Given the description of an element on the screen output the (x, y) to click on. 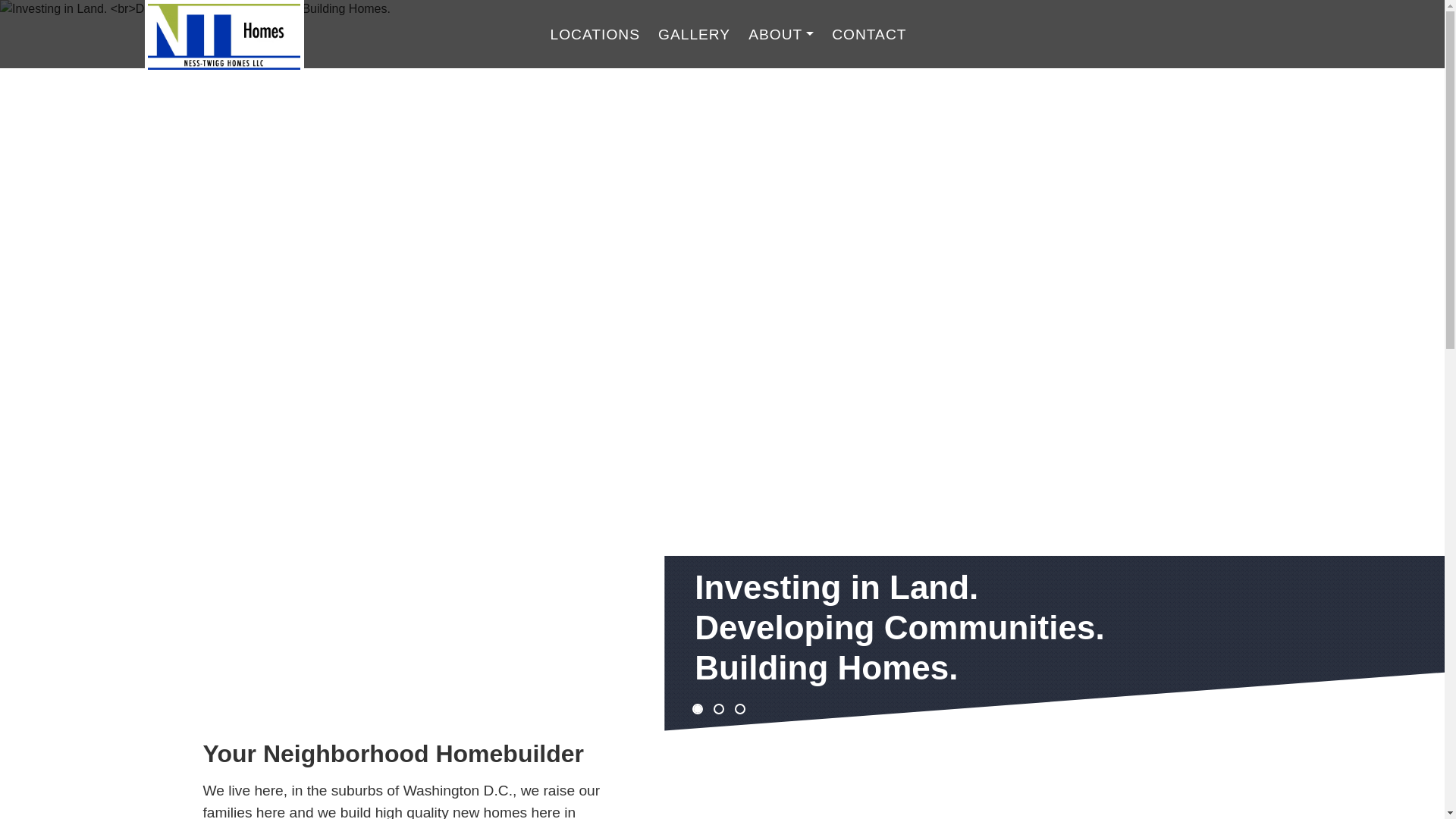
ABOUT (780, 33)
GALLERY (694, 33)
LOCATIONS (595, 33)
CONTACT (868, 33)
